Given the description of an element on the screen output the (x, y) to click on. 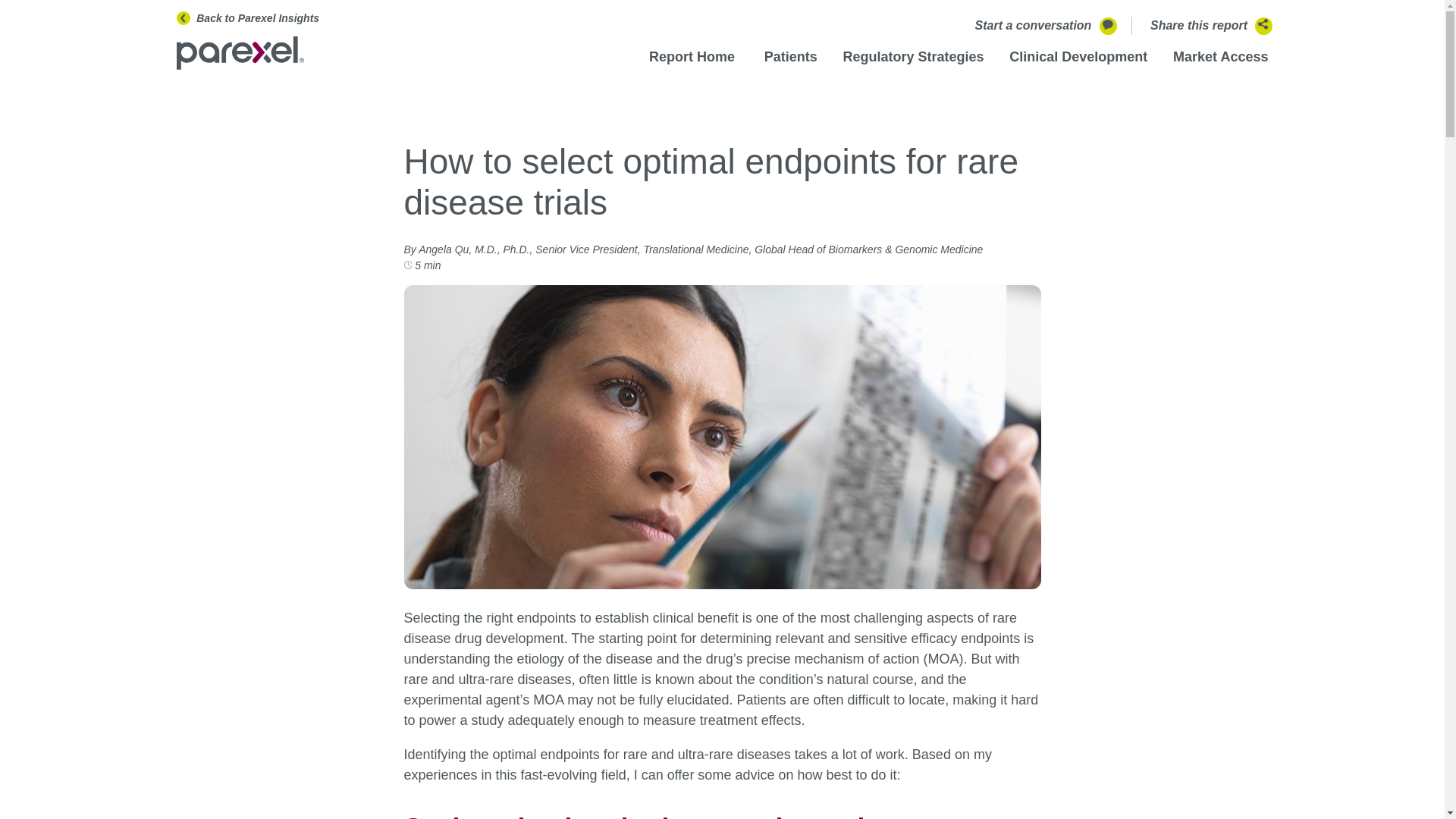
Share this report (1209, 24)
Market Access (1220, 56)
Back to Parexel Insights (339, 18)
Report Home (692, 56)
Regulatory Strategies (913, 56)
Patients (790, 56)
Start a conversation (1044, 24)
Clinical Development (1078, 56)
